Given the description of an element on the screen output the (x, y) to click on. 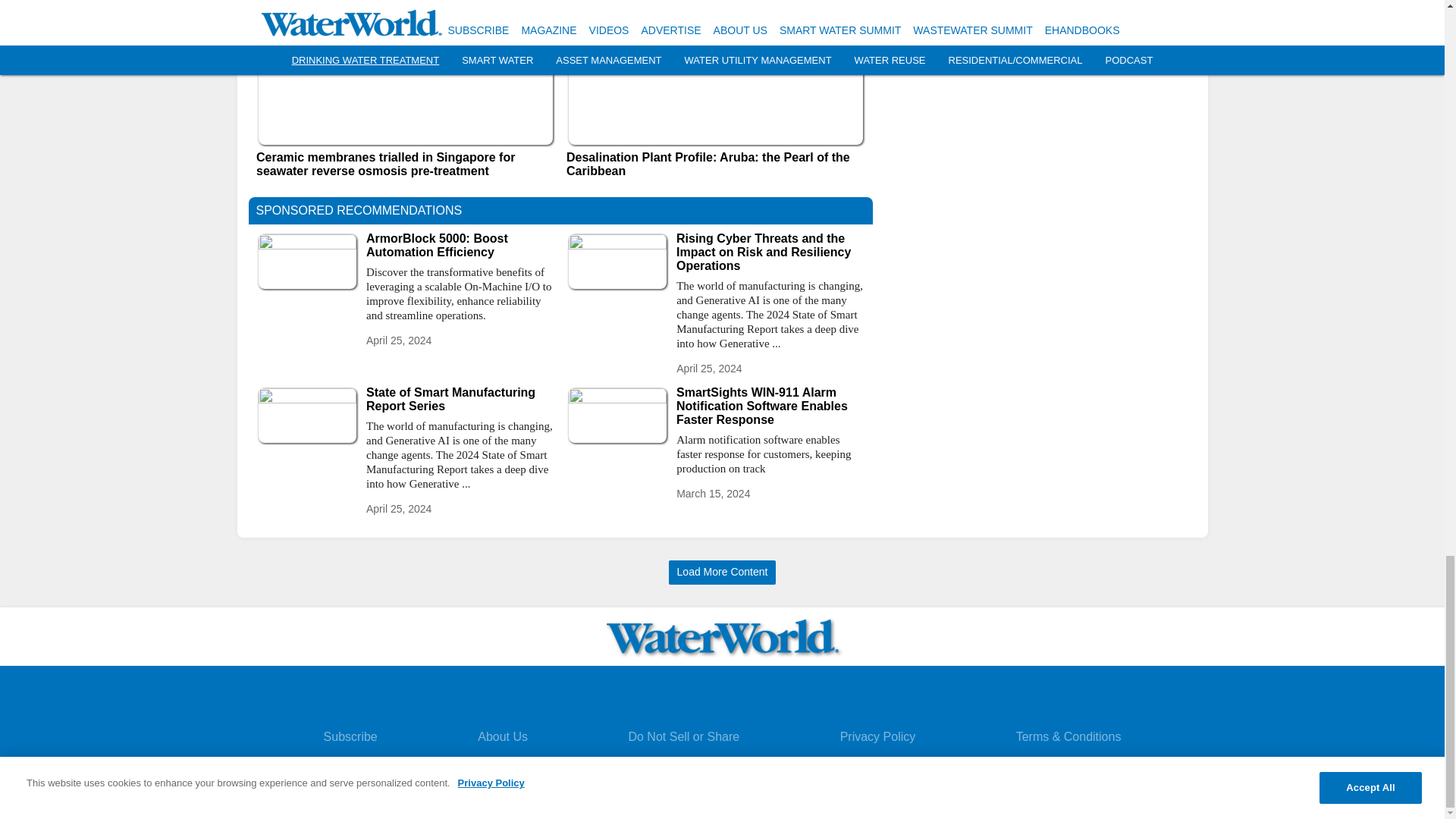
ArmorBlock 5000: Boost Automation Efficiency (459, 245)
State of Smart Manufacturing Report Series (459, 399)
